Given the description of an element on the screen output the (x, y) to click on. 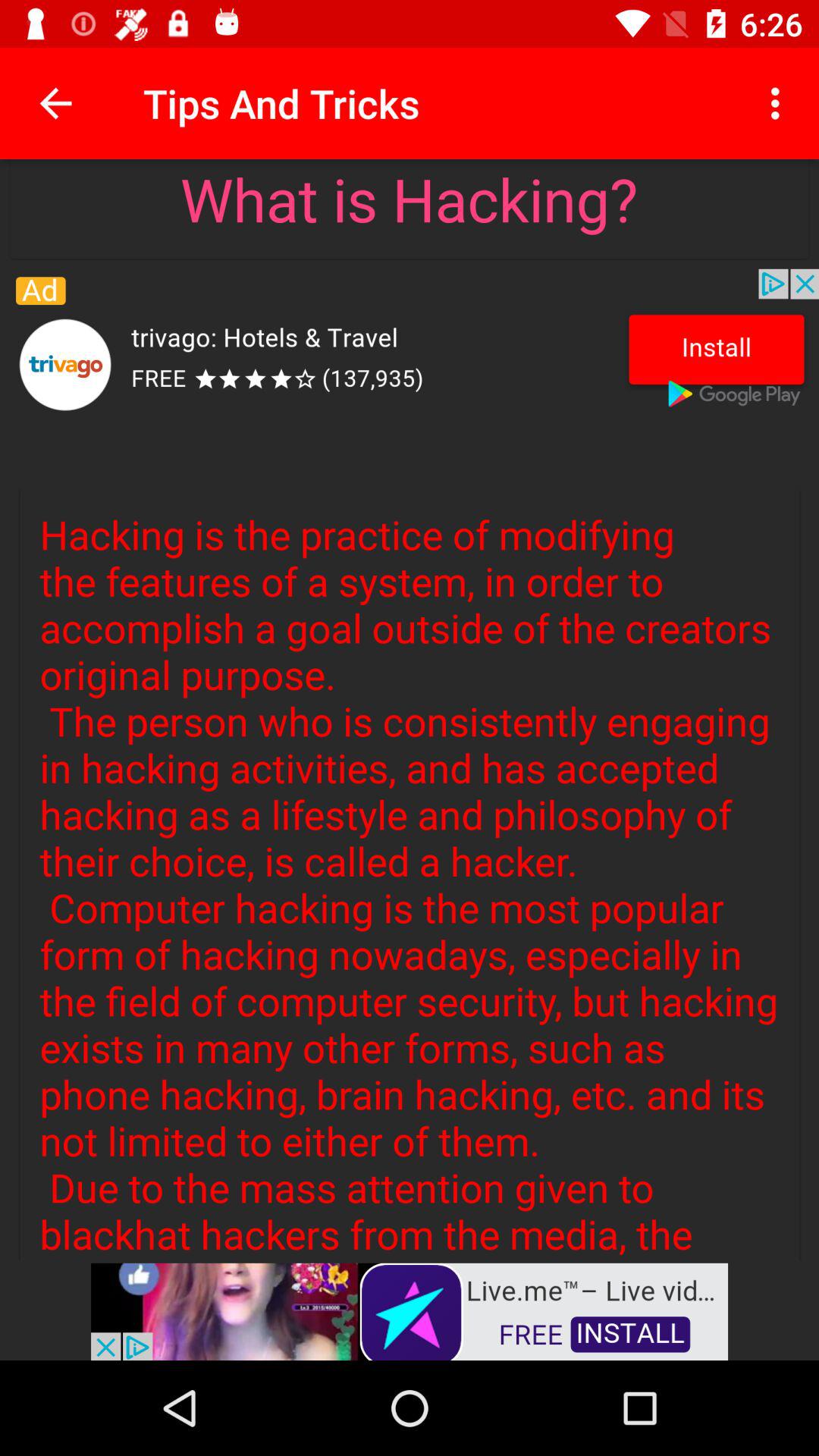
click on advertisements (409, 1310)
